Given the description of an element on the screen output the (x, y) to click on. 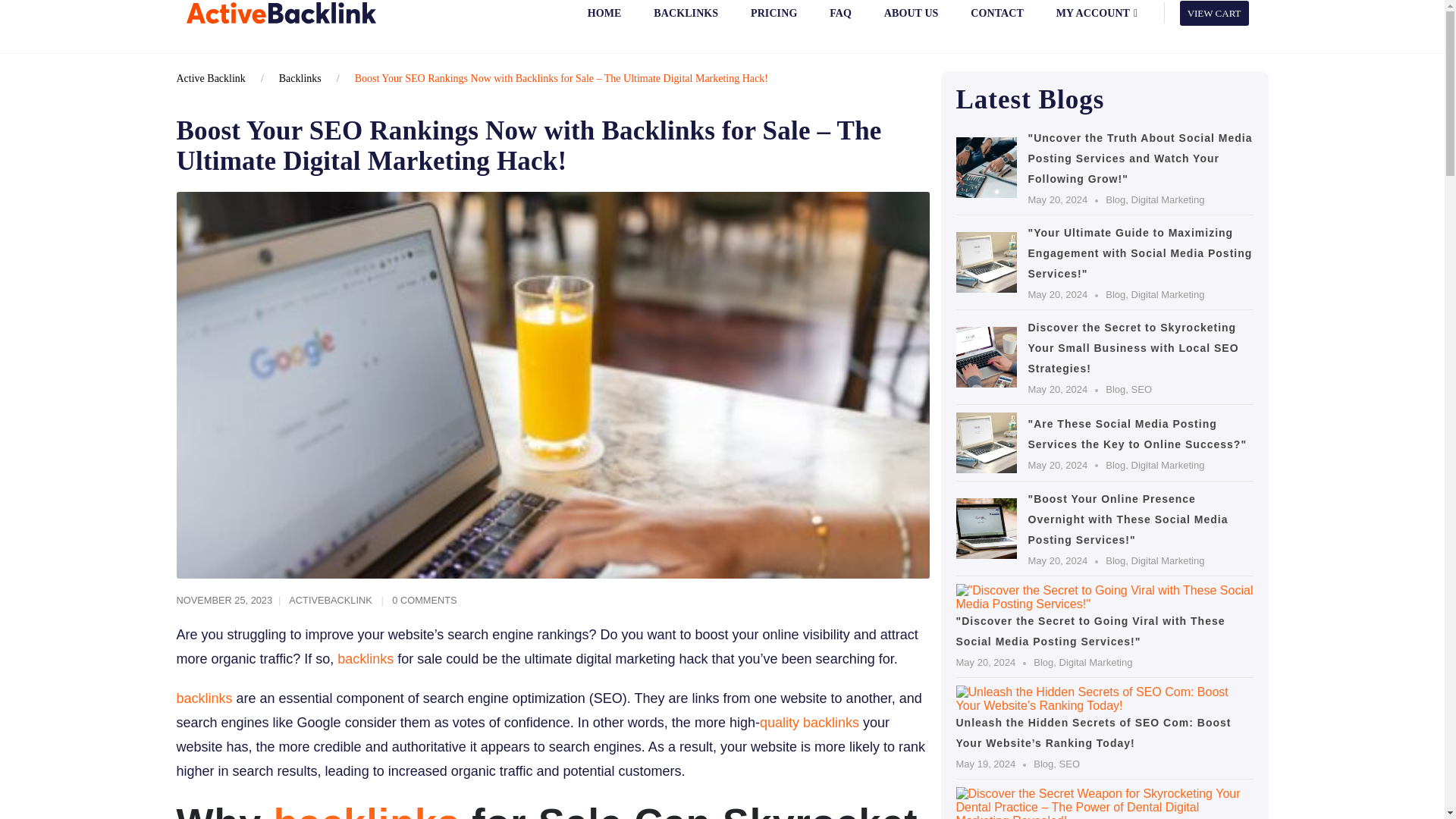
ACTIVEBACKLINK (330, 600)
HOME (603, 20)
BACKLINKS (685, 20)
ABOUT US (910, 20)
backlinks (365, 658)
CONTACT (997, 20)
PRICING (773, 20)
